Given the description of an element on the screen output the (x, y) to click on. 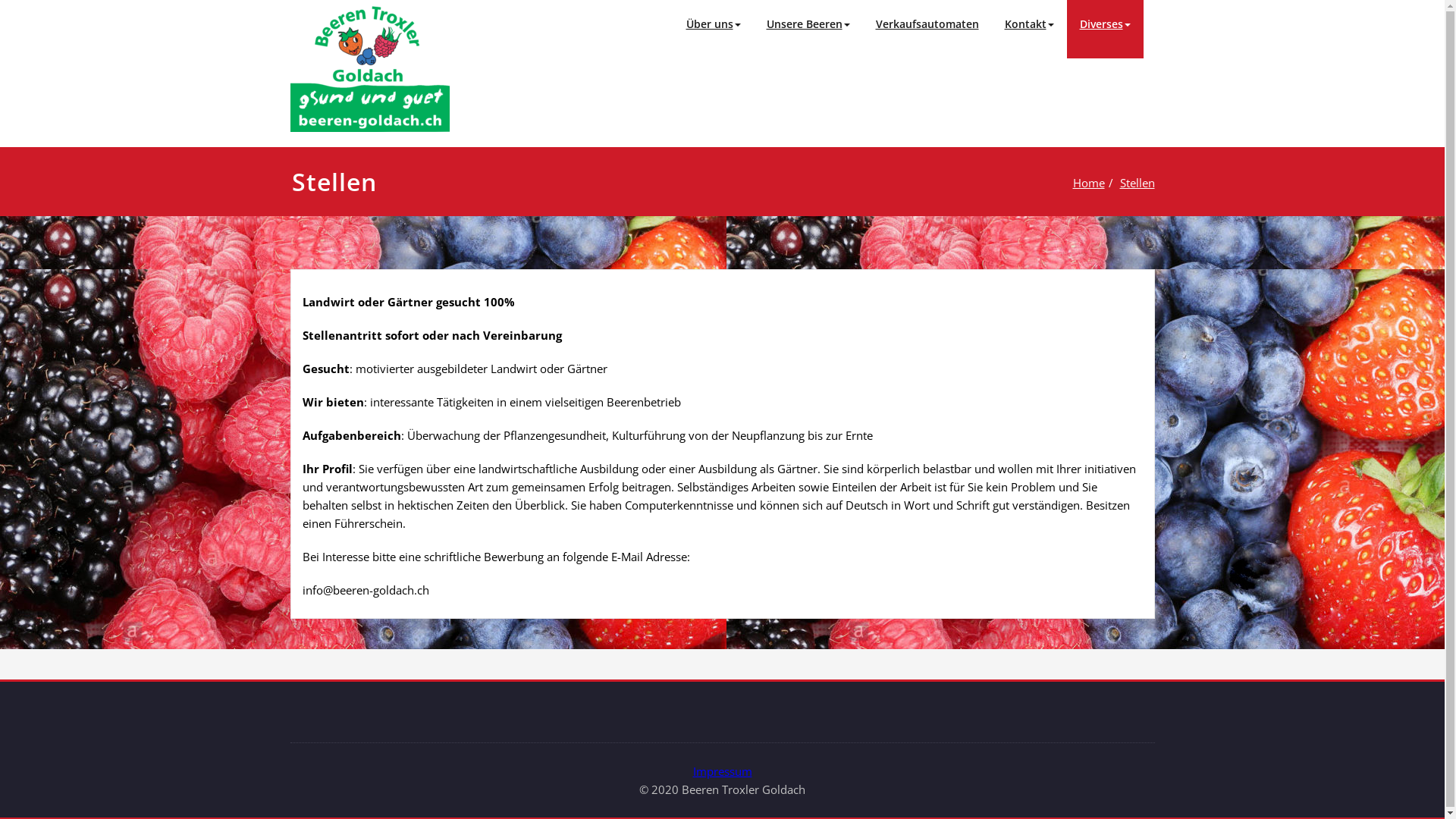
Impressum Element type: text (722, 770)
Stellen Element type: text (1136, 182)
Home Element type: text (1088, 182)
Skip to content Element type: text (0, 0)
